Given the description of an element on the screen output the (x, y) to click on. 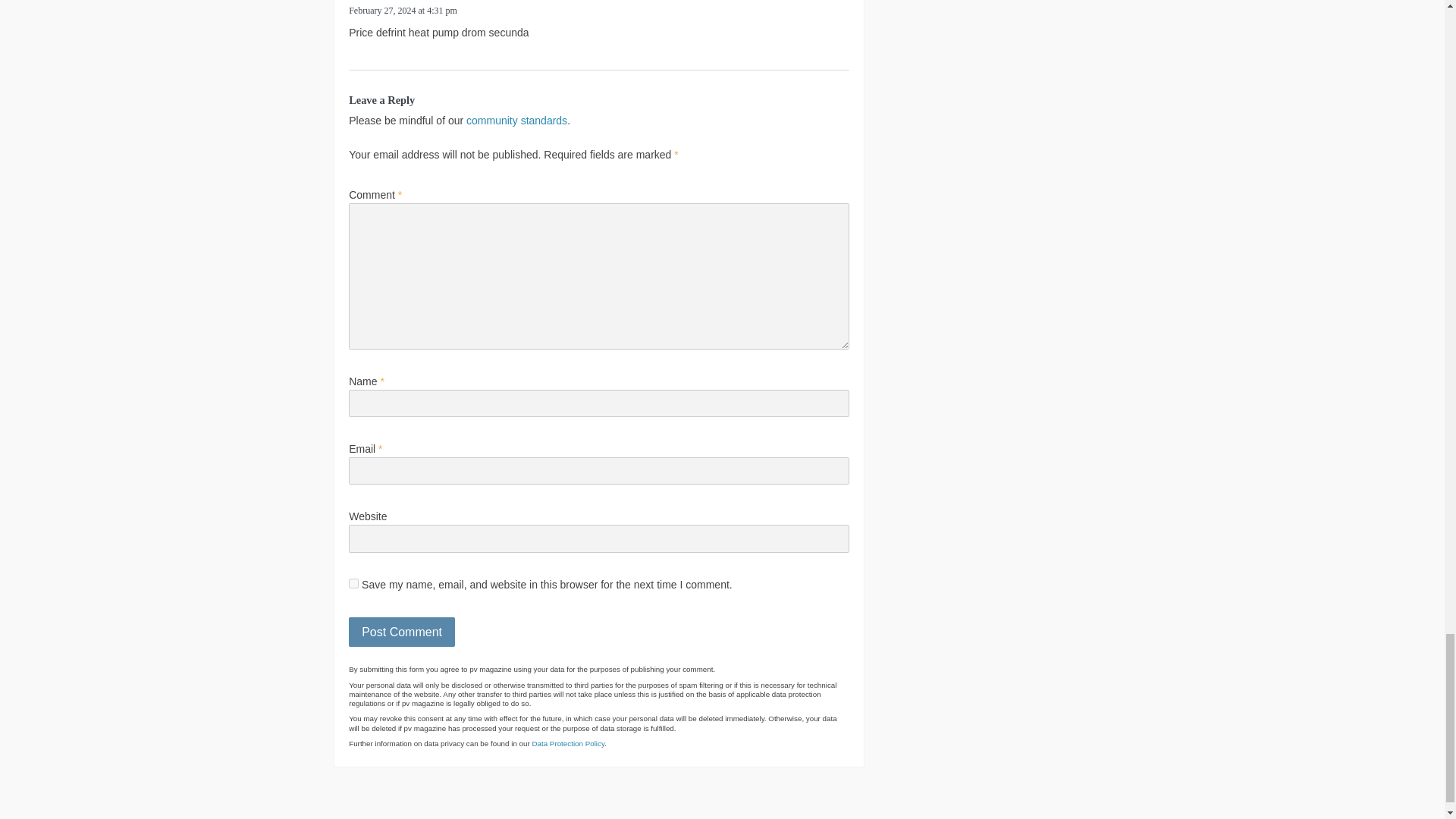
yes (353, 583)
Post Comment (401, 632)
